Given the description of an element on the screen output the (x, y) to click on. 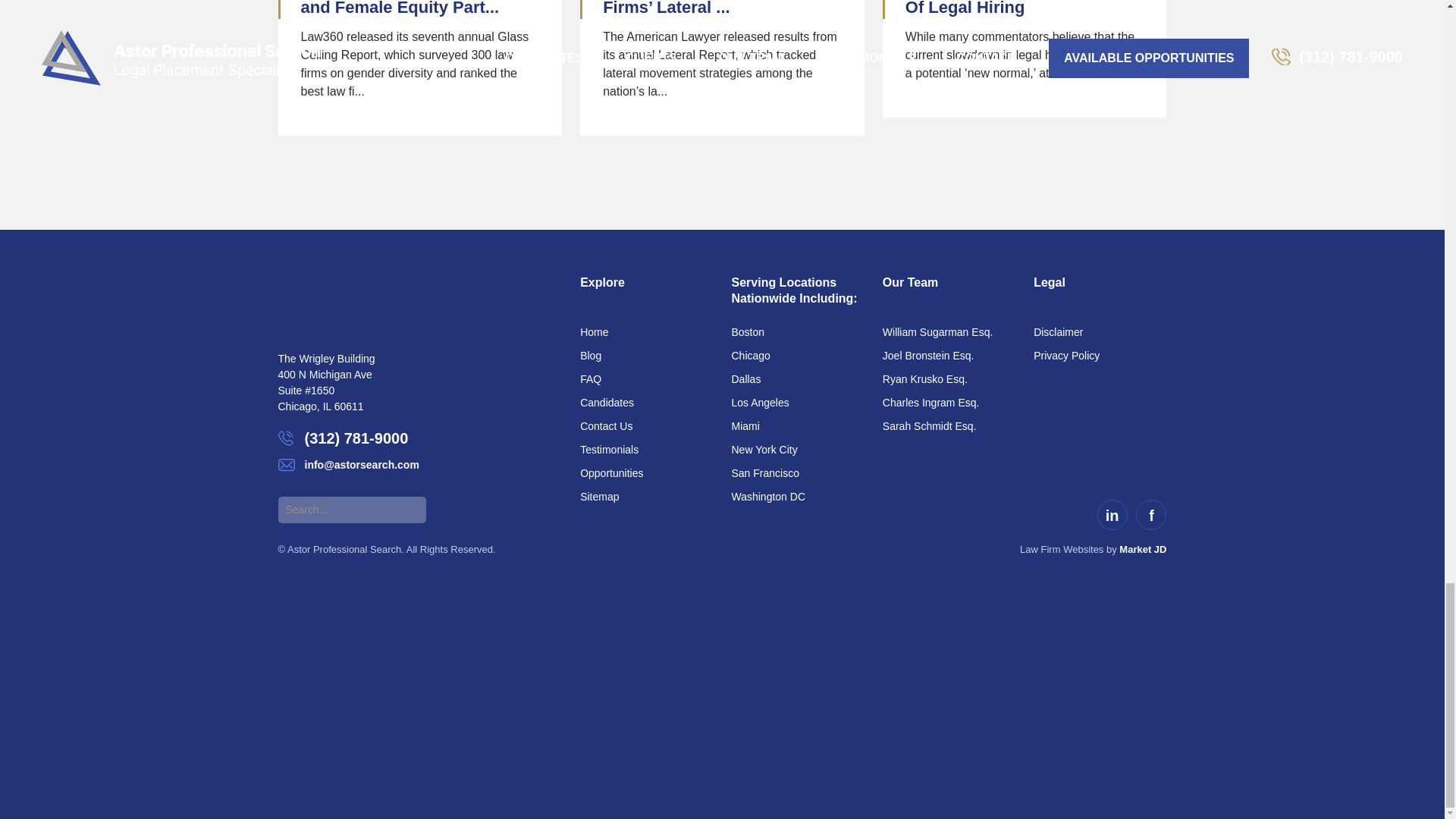
Blog (646, 355)
FAQ (646, 379)
Best Law Firms for Women and Female Equity Part... (407, 8)
Home (646, 332)
A Bullish Take On The Future Of Legal Hiring (1021, 8)
